Given the description of an element on the screen output the (x, y) to click on. 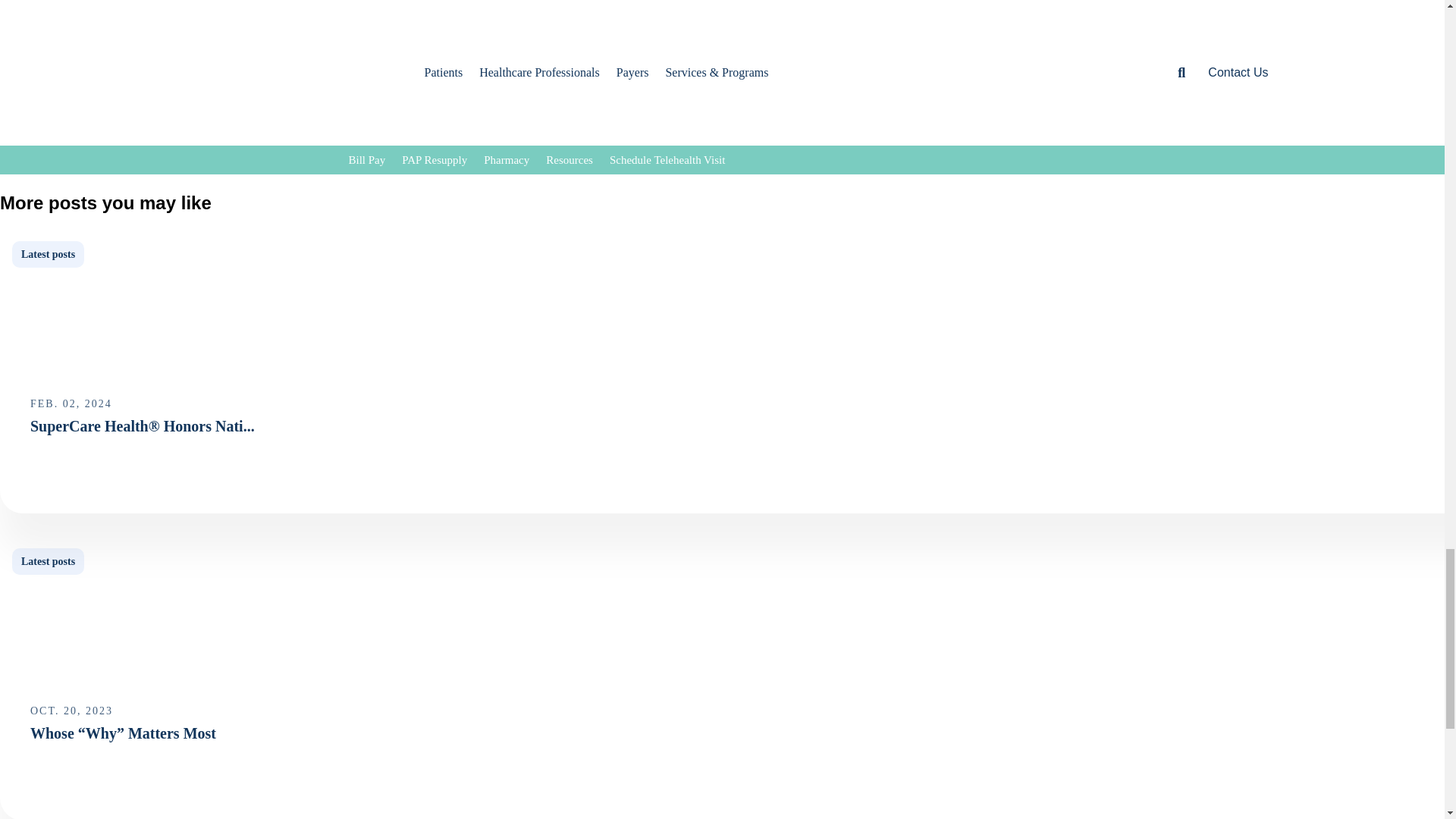
here (835, 136)
here (564, 136)
here (987, 113)
